Given the description of an element on the screen output the (x, y) to click on. 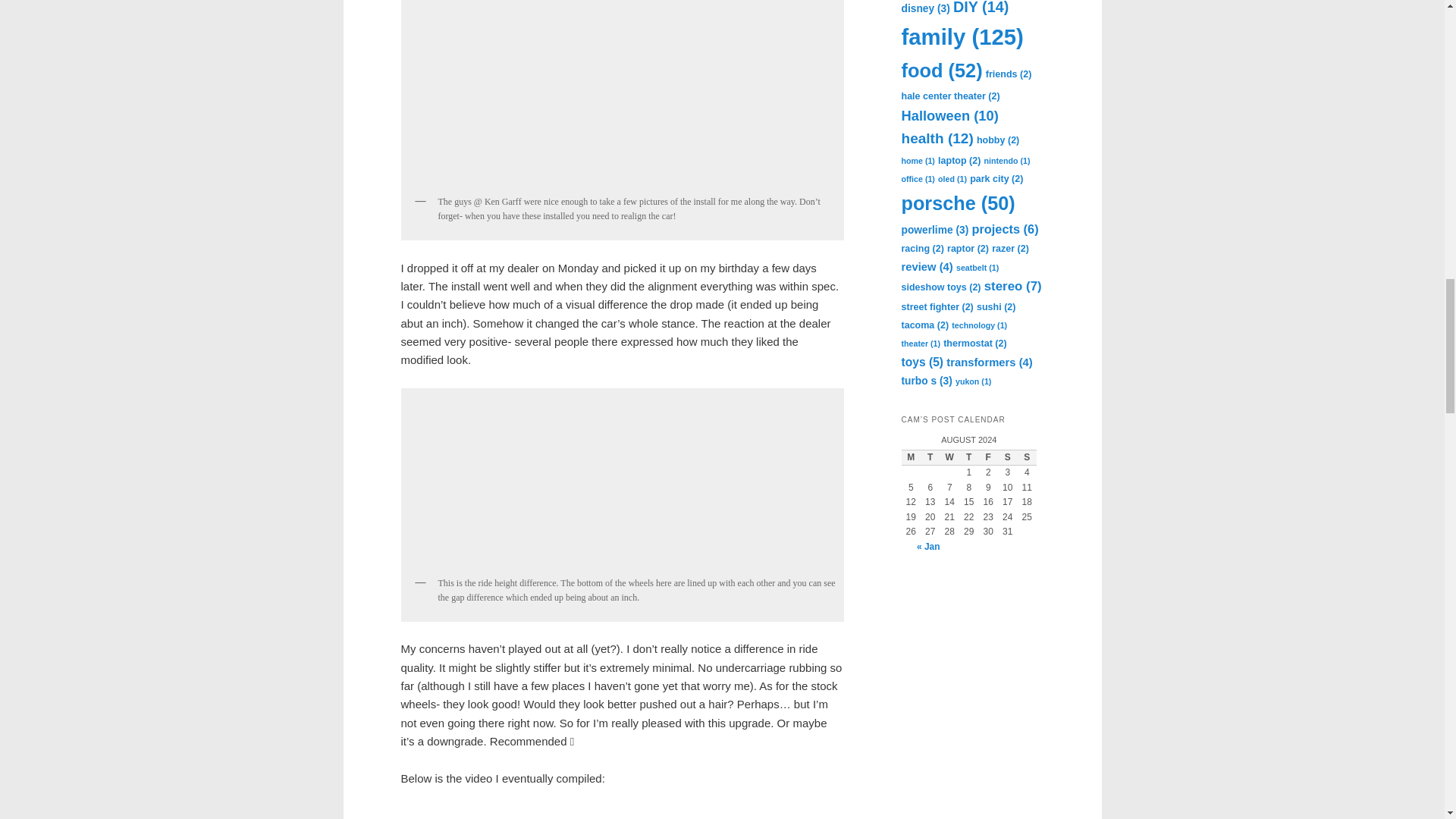
Wednesday (949, 457)
Thursday (968, 457)
Tuesday (930, 457)
Monday (910, 457)
Friday (987, 457)
